Given the description of an element on the screen output the (x, y) to click on. 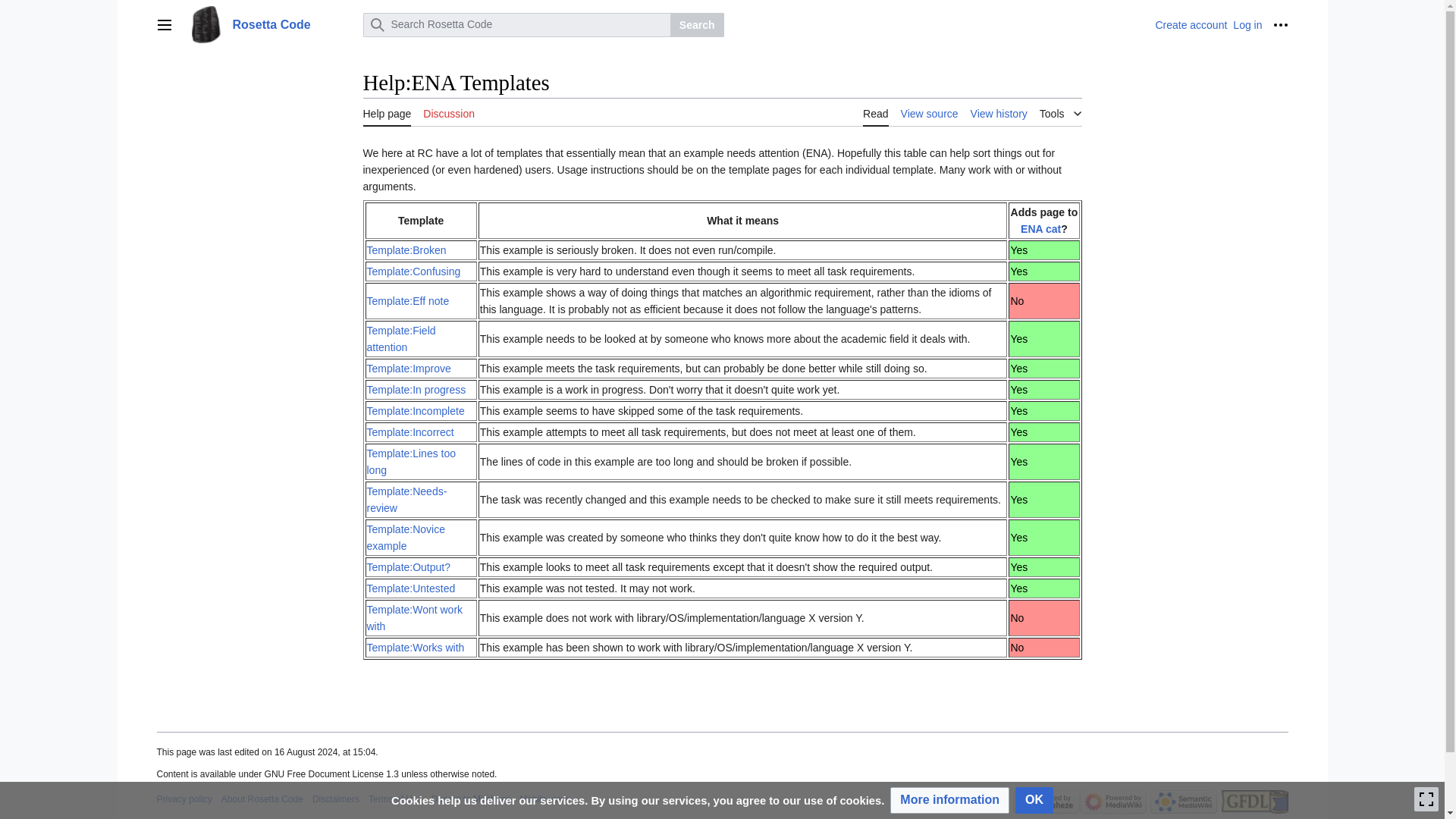
Rosetta Code (270, 24)
Create account (1190, 24)
View source (929, 112)
Help page (386, 112)
Search (696, 24)
Read (875, 112)
More options (1280, 24)
View history (999, 112)
Log in (1247, 24)
